Given the description of an element on the screen output the (x, y) to click on. 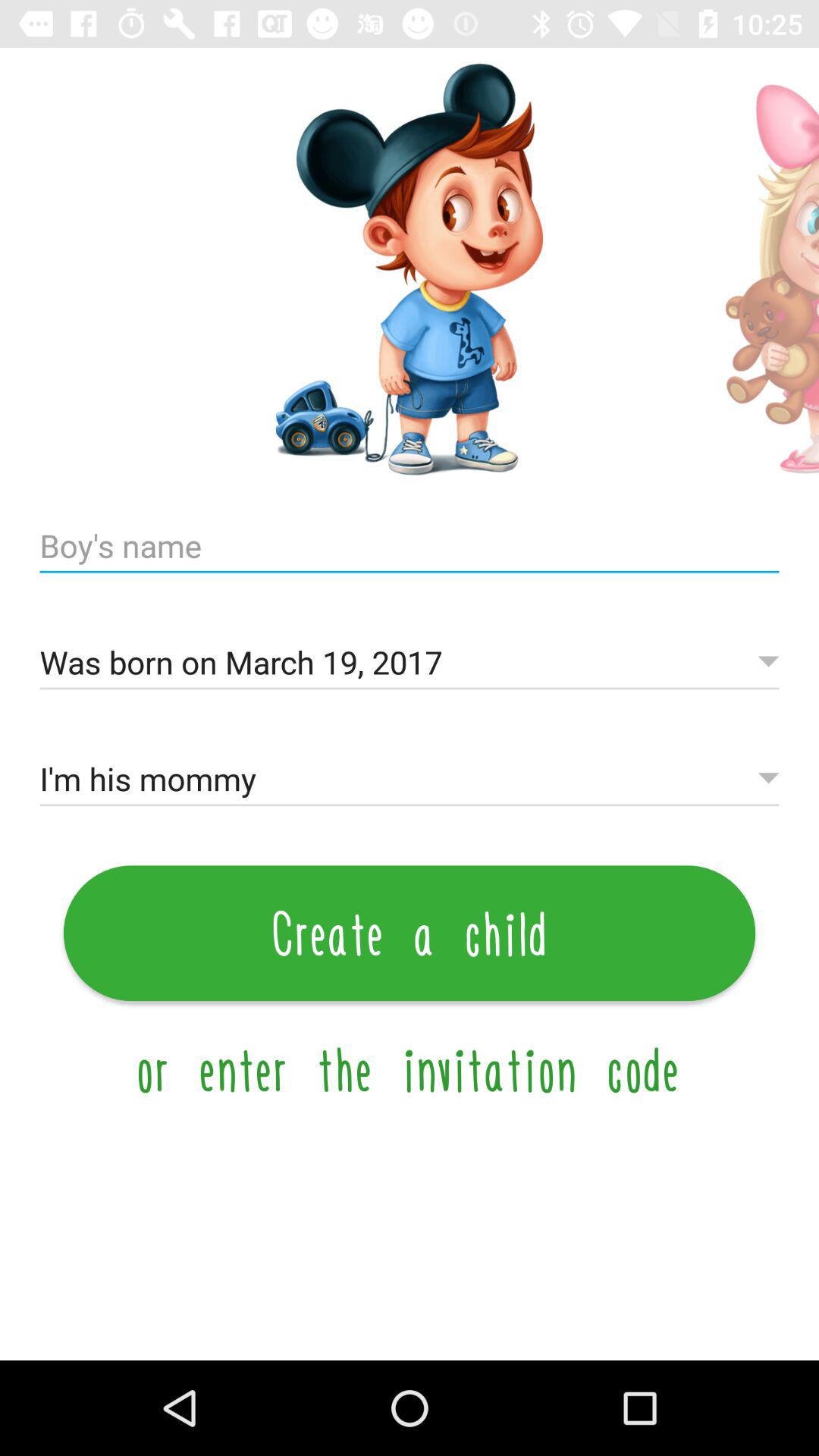
choose the icon above create a child (409, 779)
